Given the description of an element on the screen output the (x, y) to click on. 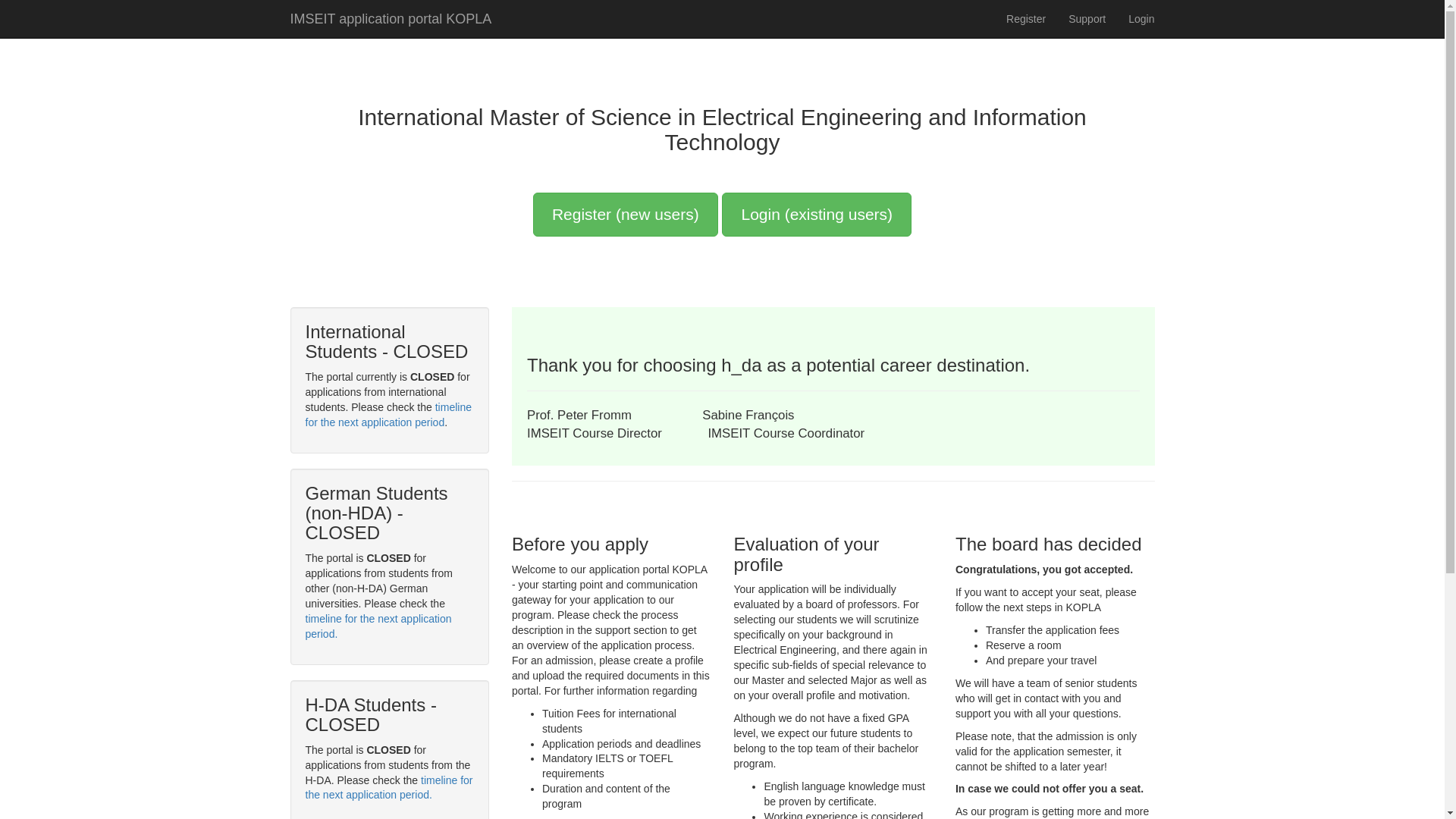
Register (1025, 18)
timeline for the next application period. (377, 625)
Support (1086, 18)
timeline for the next application period (387, 414)
Login (1141, 18)
IMSEIT application portal KOPLA (391, 18)
timeline for the next application period. (387, 786)
